Given the description of an element on the screen output the (x, y) to click on. 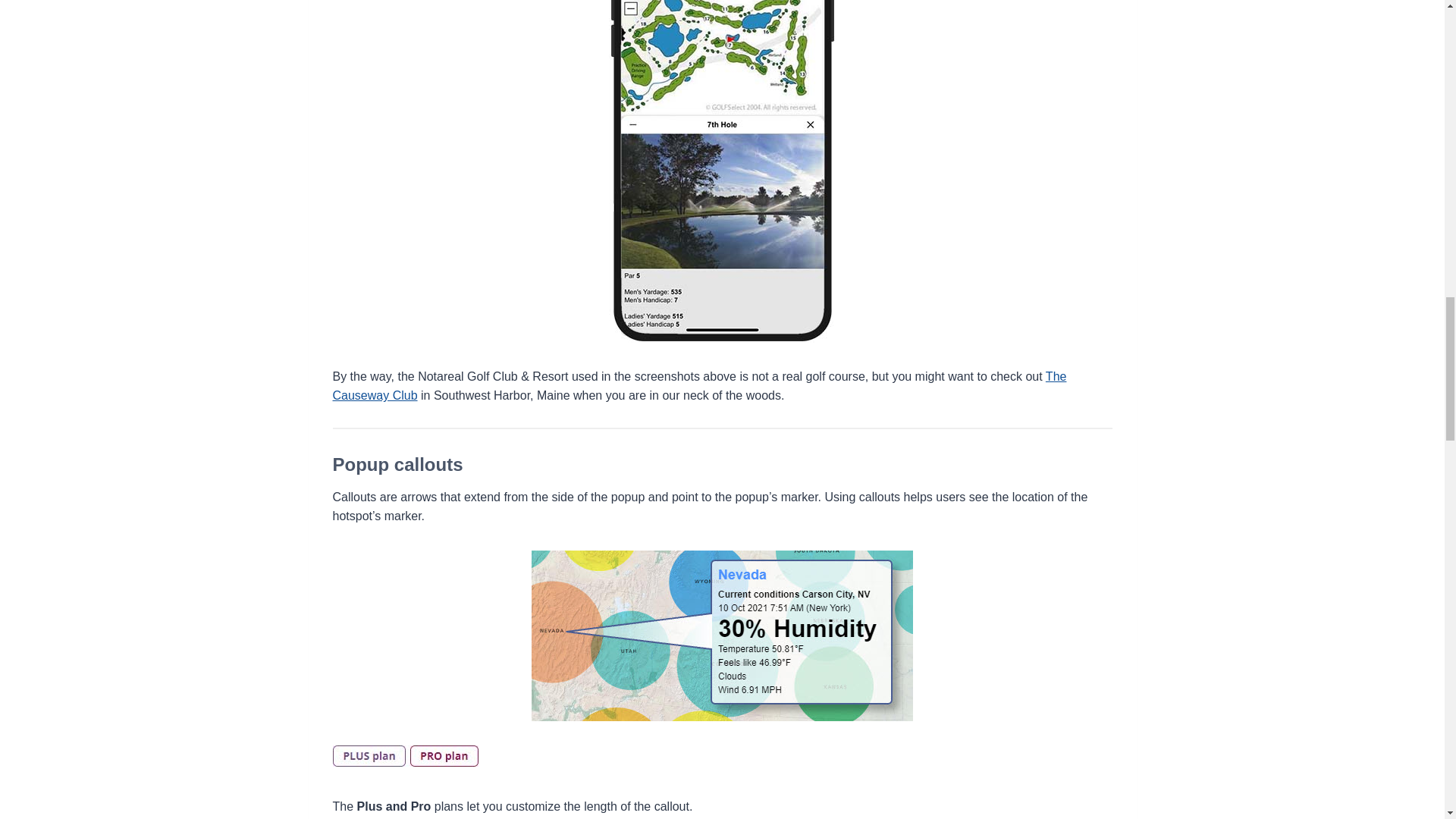
Popup with custom callout (721, 635)
The Causeway Club (698, 386)
Customize the callout size with the Plus and Pro plan (404, 755)
